Given the description of an element on the screen output the (x, y) to click on. 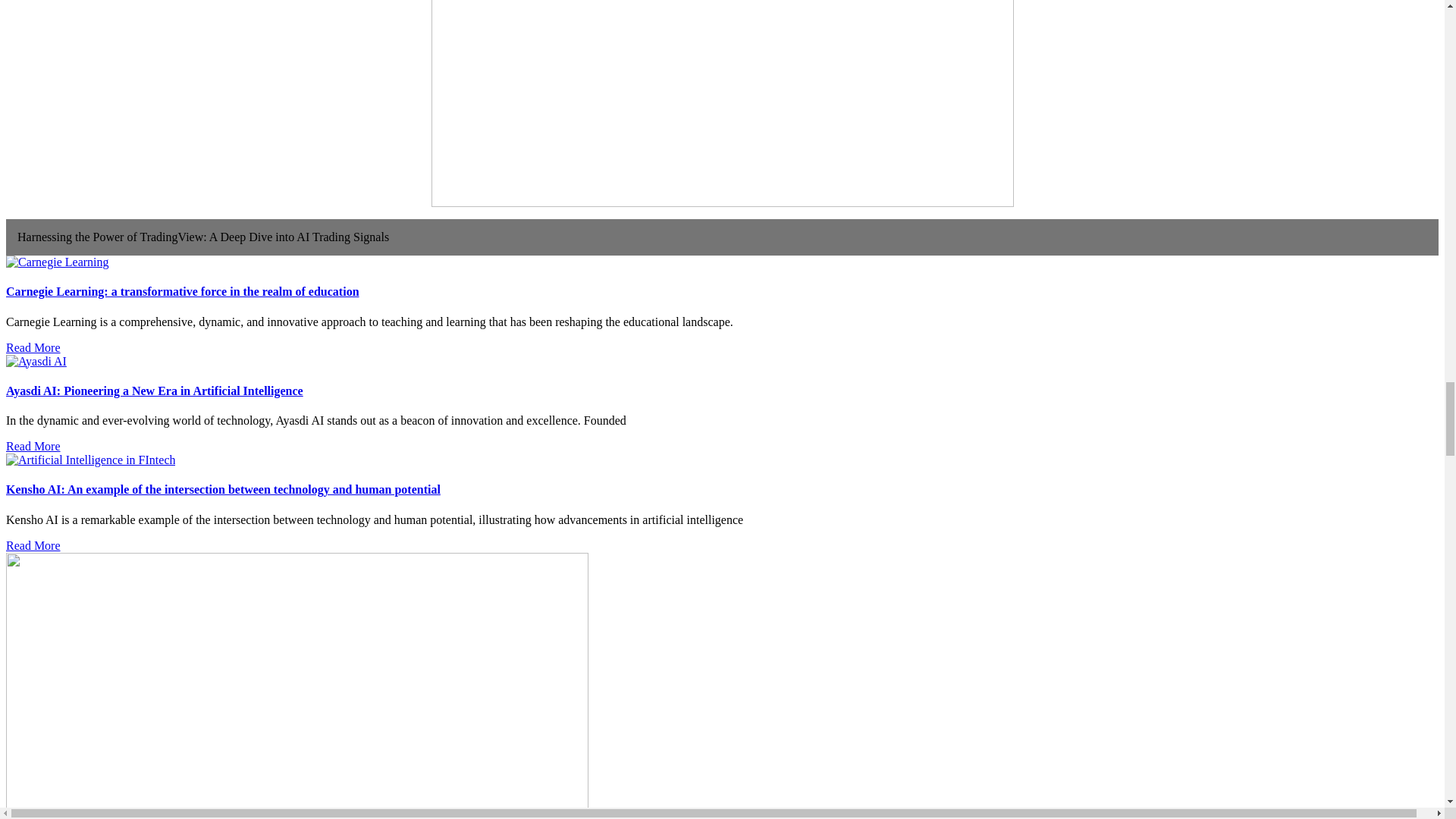
Read More (33, 445)
Read More (33, 347)
Ayasdi AI: Pioneering a New Era in Artificial Intelligence (153, 390)
Read More (33, 545)
